Given the description of an element on the screen output the (x, y) to click on. 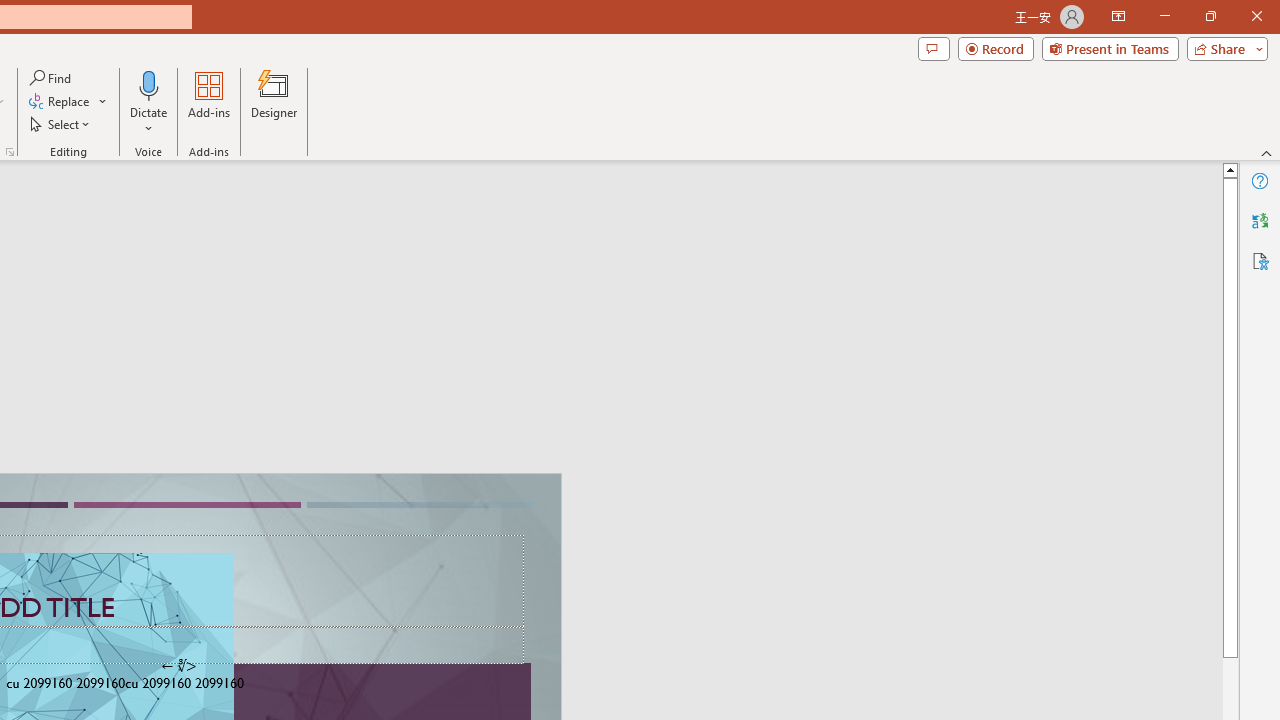
TextBox 7 (178, 666)
